Given the description of an element on the screen output the (x, y) to click on. 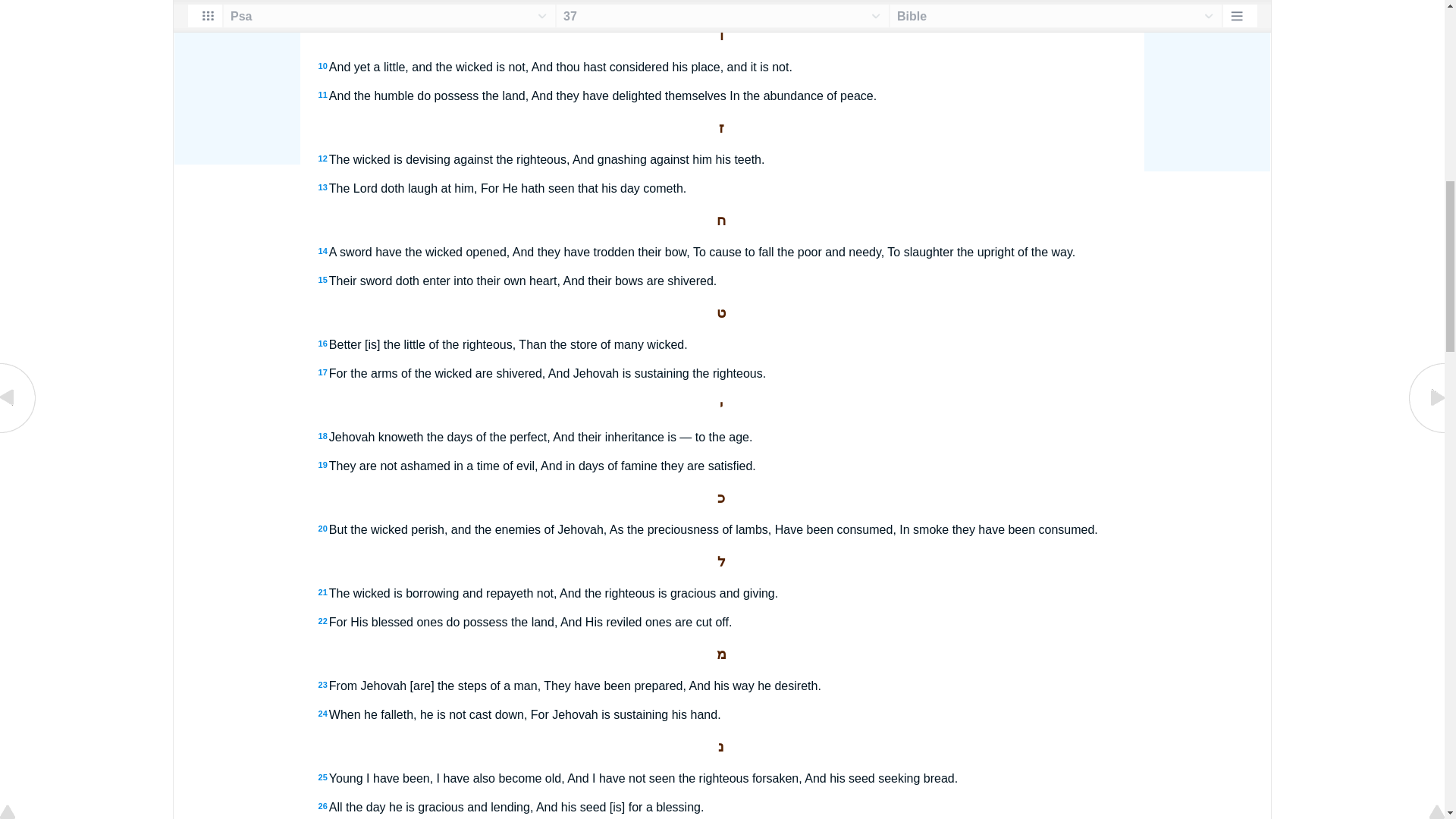
21 (322, 592)
26 (322, 805)
23 (322, 684)
25 (322, 777)
24 (322, 713)
Top of Page (18, 1)
11 (322, 94)
14 (322, 250)
18 (322, 435)
19 (322, 464)
12 (322, 157)
22 (322, 620)
13 (322, 186)
16 (322, 343)
